Given the description of an element on the screen output the (x, y) to click on. 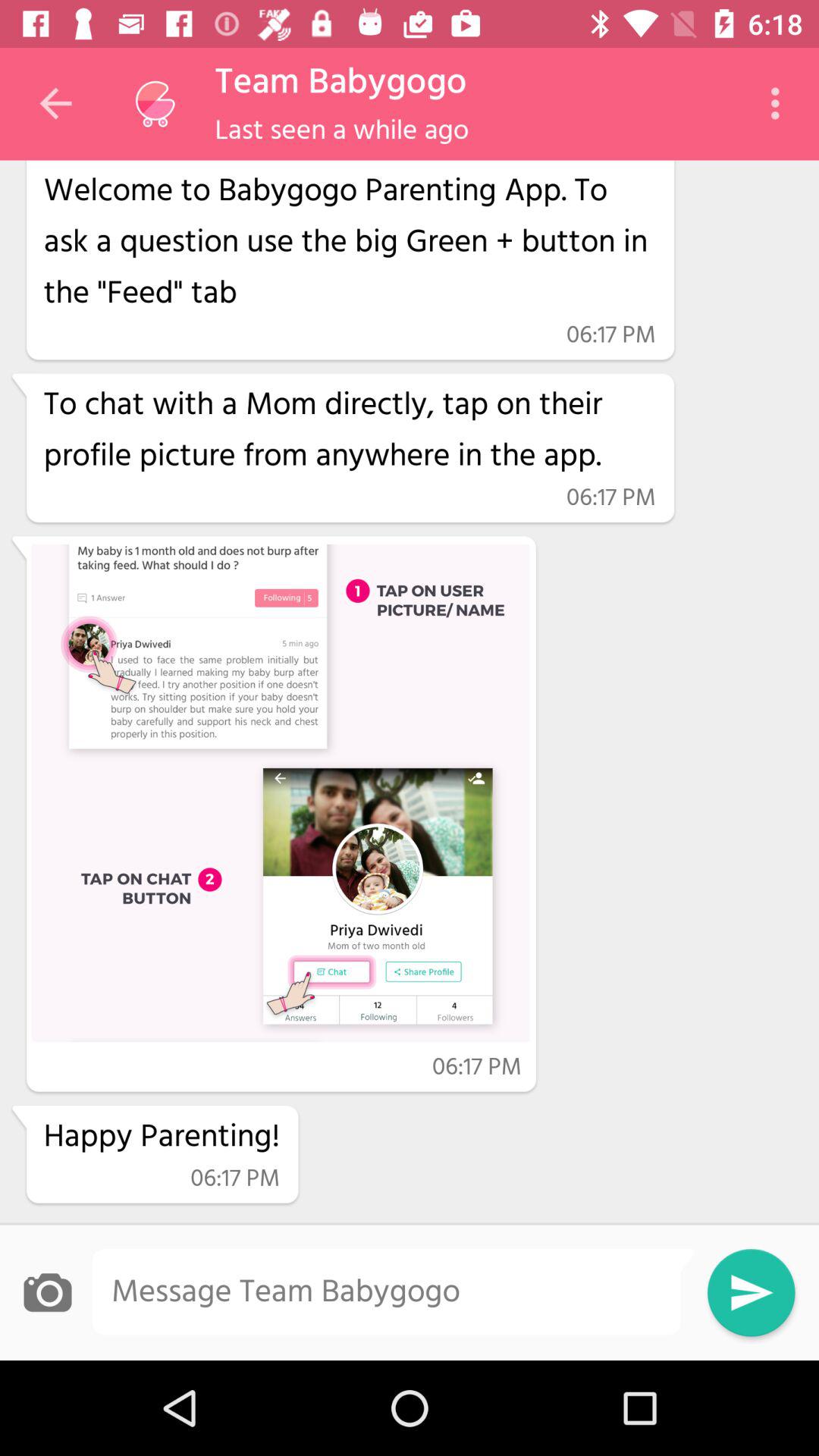
swipe until last seen a item (341, 131)
